Given the description of an element on the screen output the (x, y) to click on. 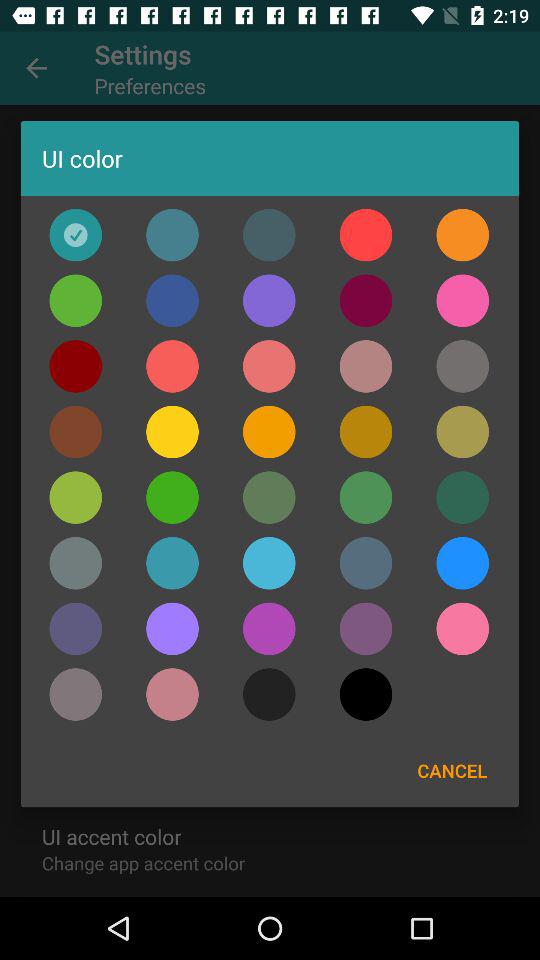
choose the color (462, 431)
